Given the description of an element on the screen output the (x, y) to click on. 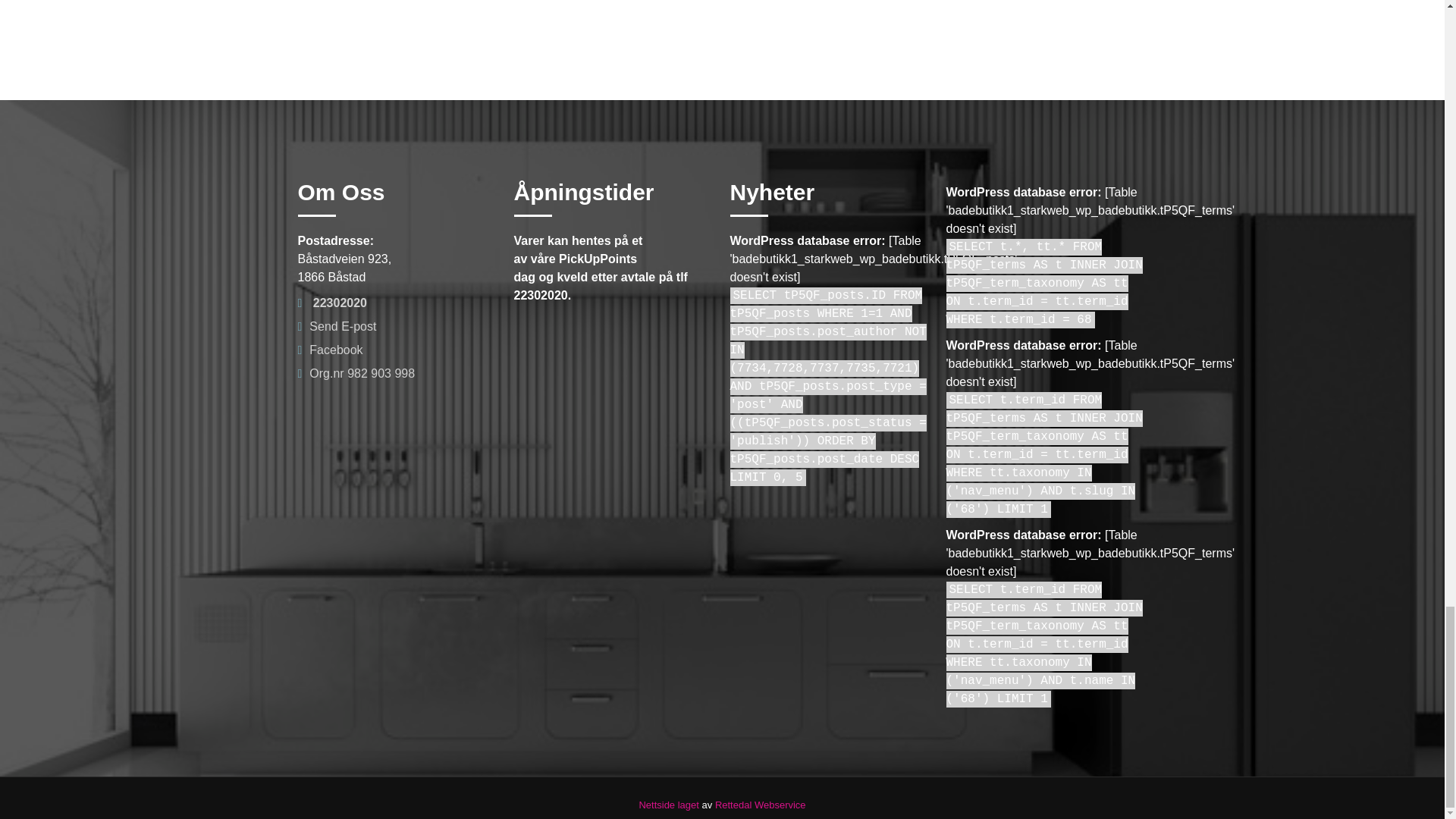
Rettedal Webservice (760, 804)
Nettside laget (668, 804)
Org.nr 982 903 998 (355, 373)
Facebook (329, 349)
22302020 (331, 302)
Send E-post (336, 326)
Nettside laget av (668, 804)
Wordpress themes (760, 804)
